Given the description of an element on the screen output the (x, y) to click on. 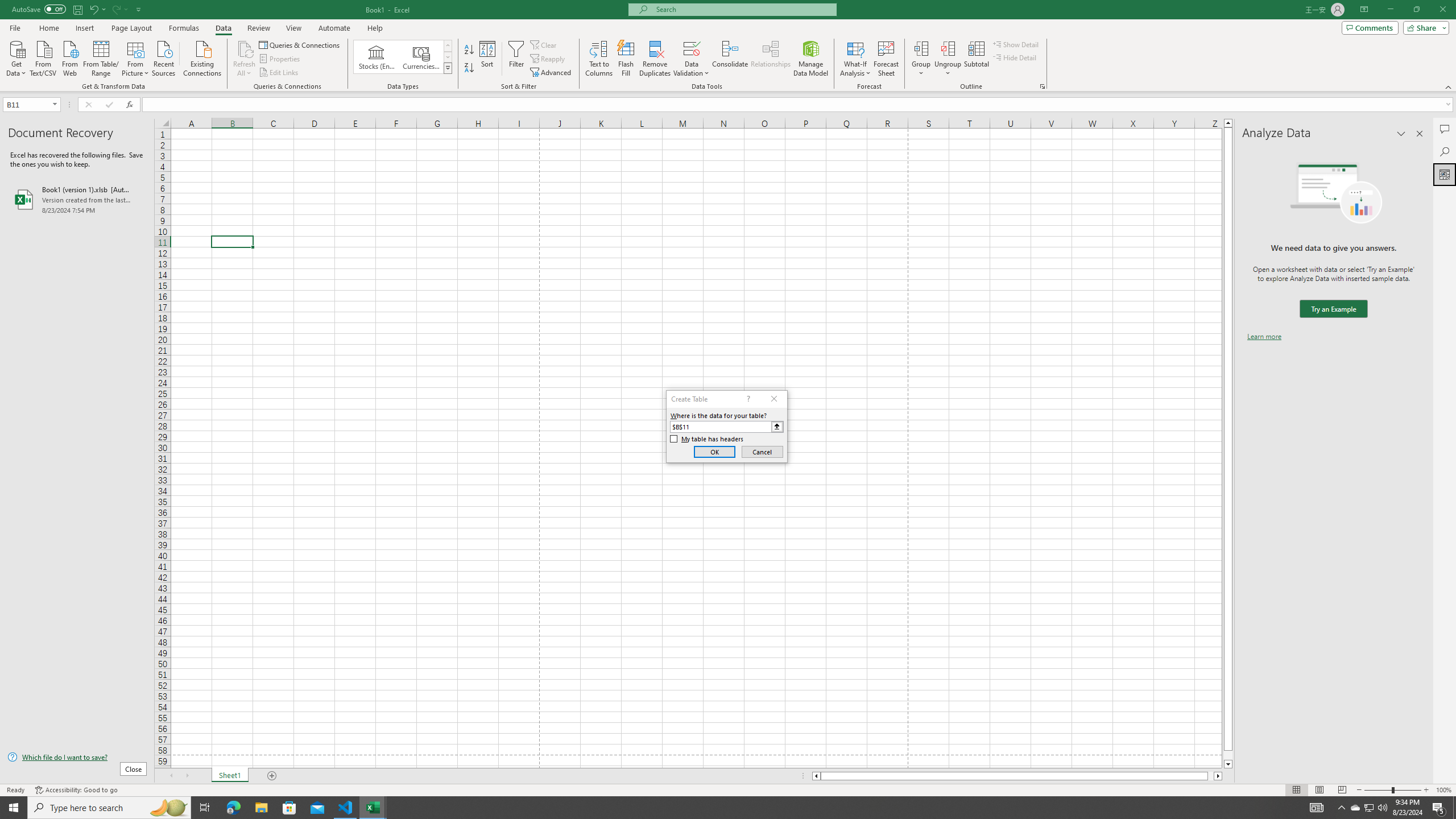
Forecast Sheet (885, 58)
Formula Bar (799, 104)
Row up (448, 45)
Page down (1228, 755)
Class: NetUIImage (447, 68)
Page right (1211, 775)
Refresh All (244, 58)
Analyze Data (1444, 173)
Edit Links (279, 72)
Currencies (English) (420, 56)
